Given the description of an element on the screen output the (x, y) to click on. 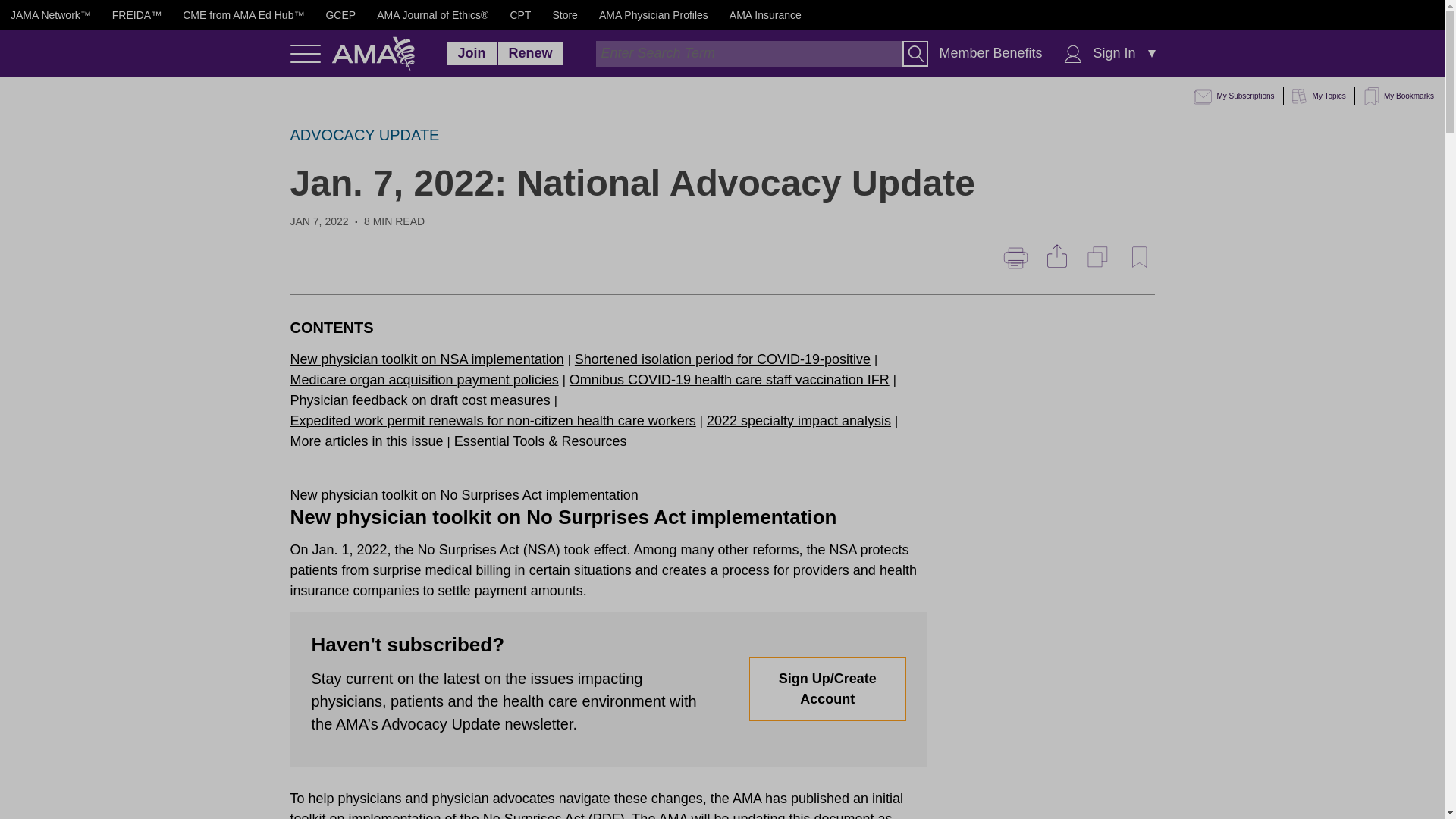
Store (563, 15)
GCEP (339, 15)
Search (915, 53)
Sign In (1115, 53)
Member Benefits (990, 52)
Share (1053, 256)
AMA Insurance (765, 15)
Copy (1098, 257)
AMA Physician Profiles (652, 15)
CPT (520, 15)
Print Page (1015, 258)
